Given the description of an element on the screen output the (x, y) to click on. 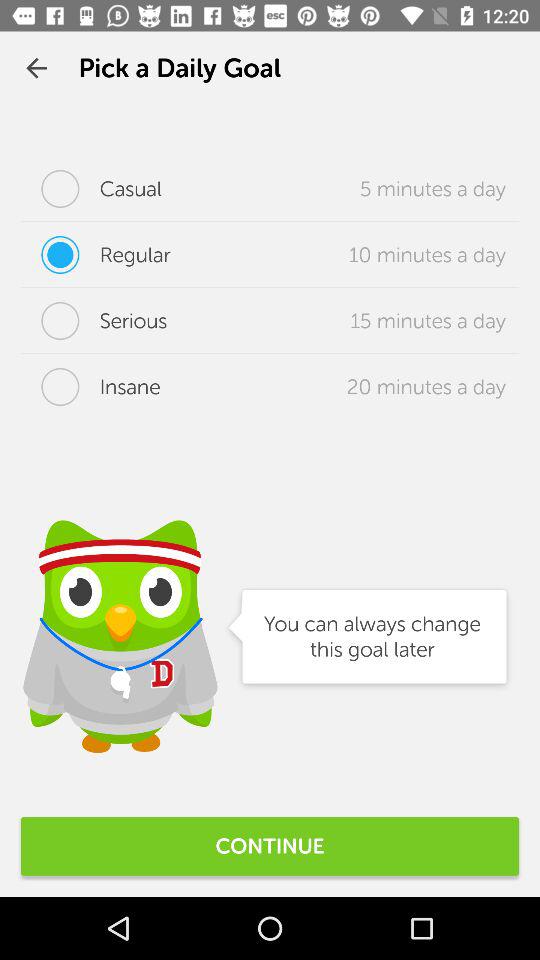
choose regular (95, 255)
